Given the description of an element on the screen output the (x, y) to click on. 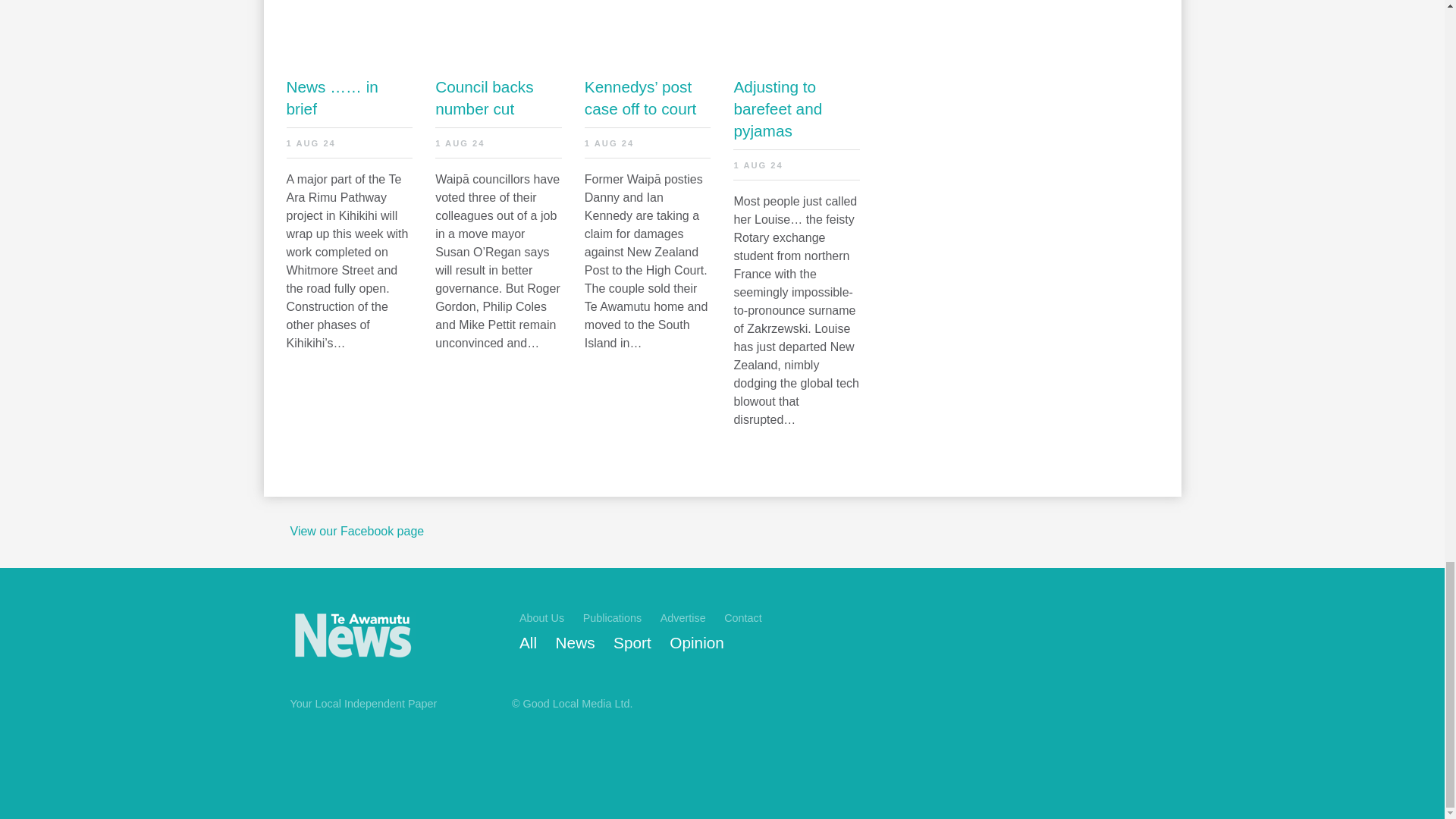
Council backs number cut (498, 97)
Publications (612, 617)
Opinion (696, 642)
Adjusting to barefeet and pyjamas (796, 108)
Contact (742, 617)
View our Facebook page (356, 530)
Advertise (683, 617)
Sport (631, 642)
All (528, 642)
News (575, 642)
About Us (541, 617)
